Given the description of an element on the screen output the (x, y) to click on. 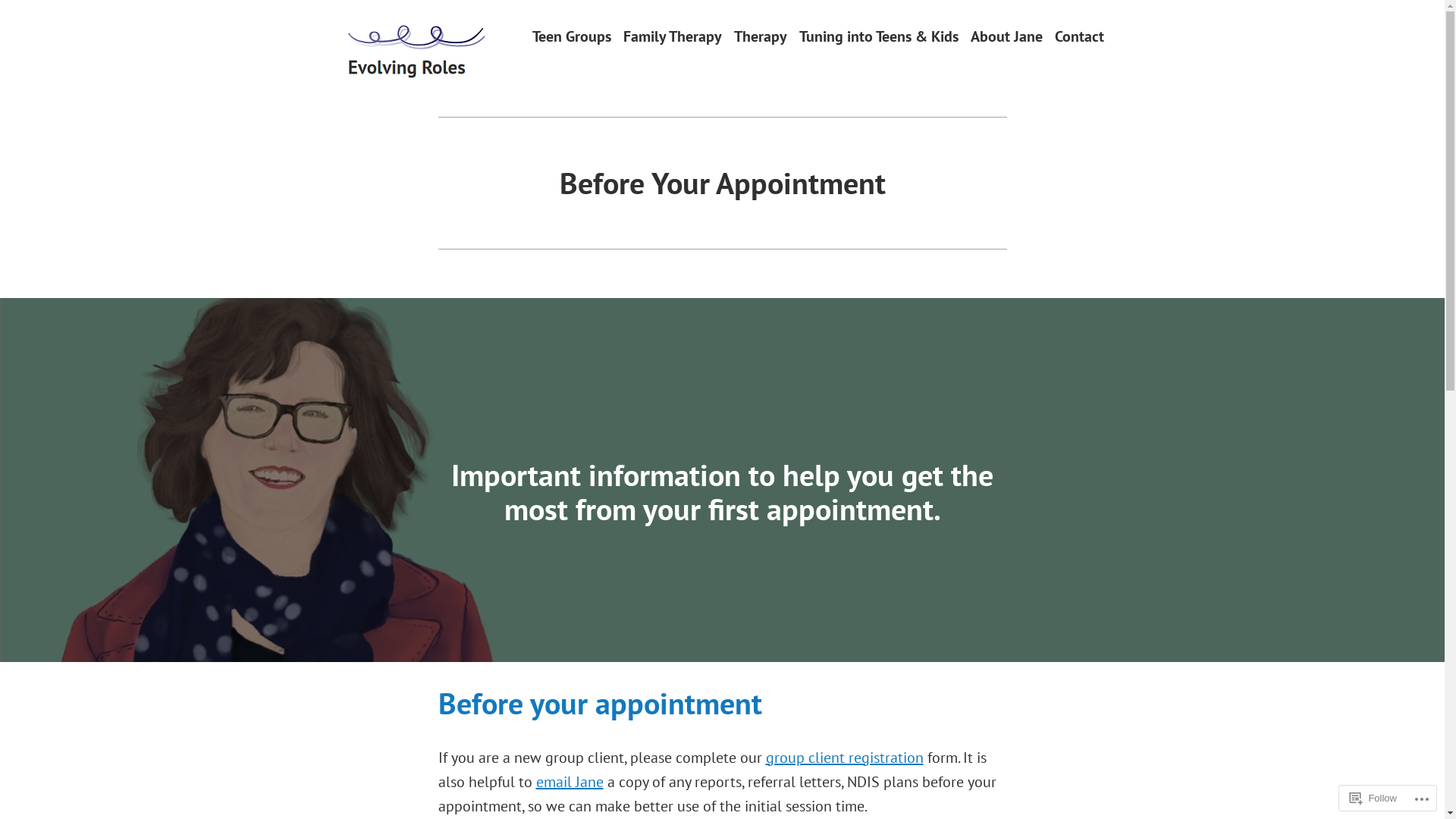
Contact Element type: text (1078, 35)
Therapy Element type: text (760, 35)
Tuning into Teens & Kids Element type: text (878, 35)
email Jane Element type: text (568, 781)
Evolving Roles Element type: text (423, 78)
group client registration Element type: text (844, 757)
About Jane Element type: text (1006, 35)
Family Therapy Element type: text (672, 35)
Follow Element type: text (1372, 797)
Teen Groups Element type: text (571, 35)
